Given the description of an element on the screen output the (x, y) to click on. 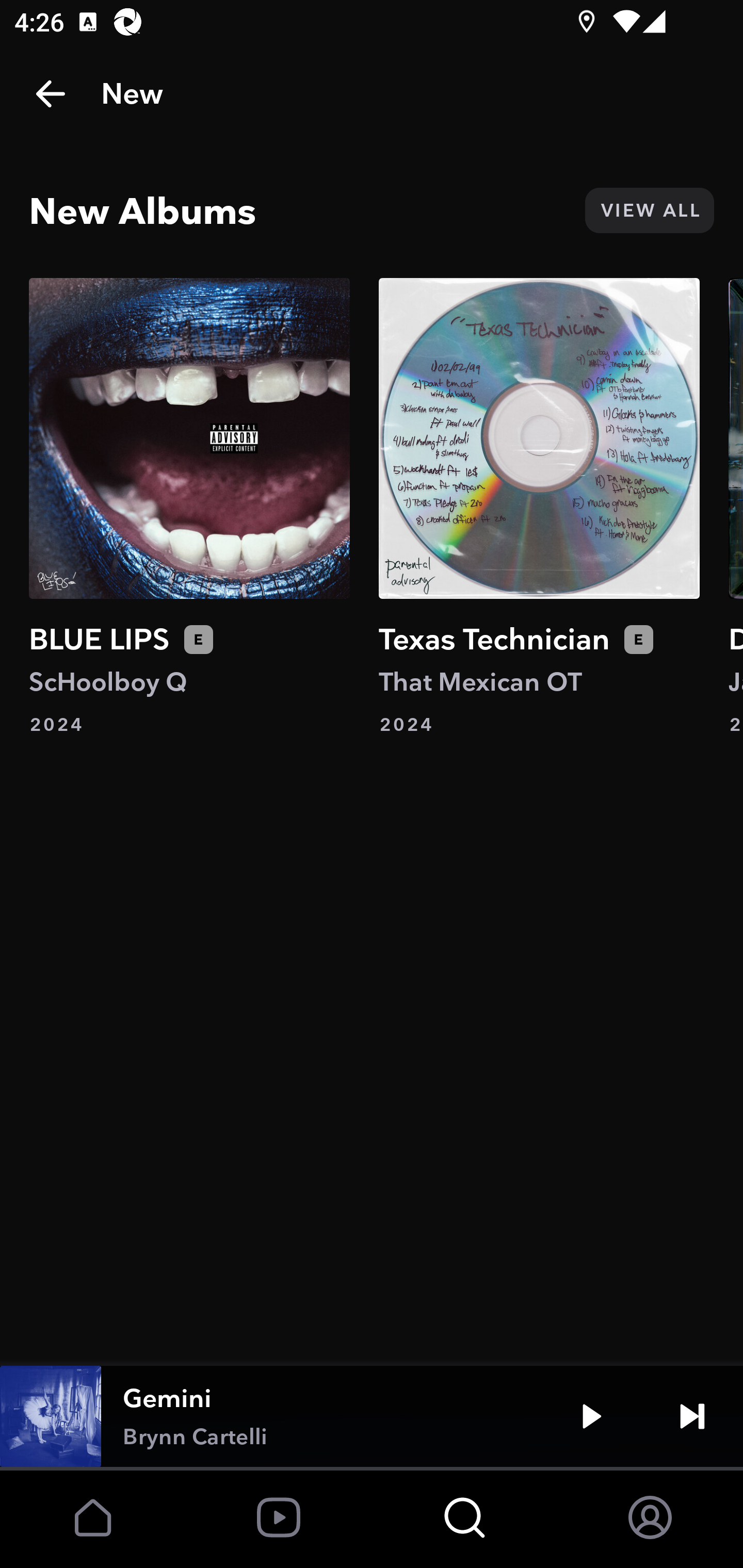
VIEW ALL (649, 210)
BLUE LIPS ScHoolboy Q 2024 (188, 506)
Texas Technician That Mexican OT 2024 (538, 506)
Gemini Brynn Cartelli Play (371, 1416)
Play (590, 1416)
